Given the description of an element on the screen output the (x, y) to click on. 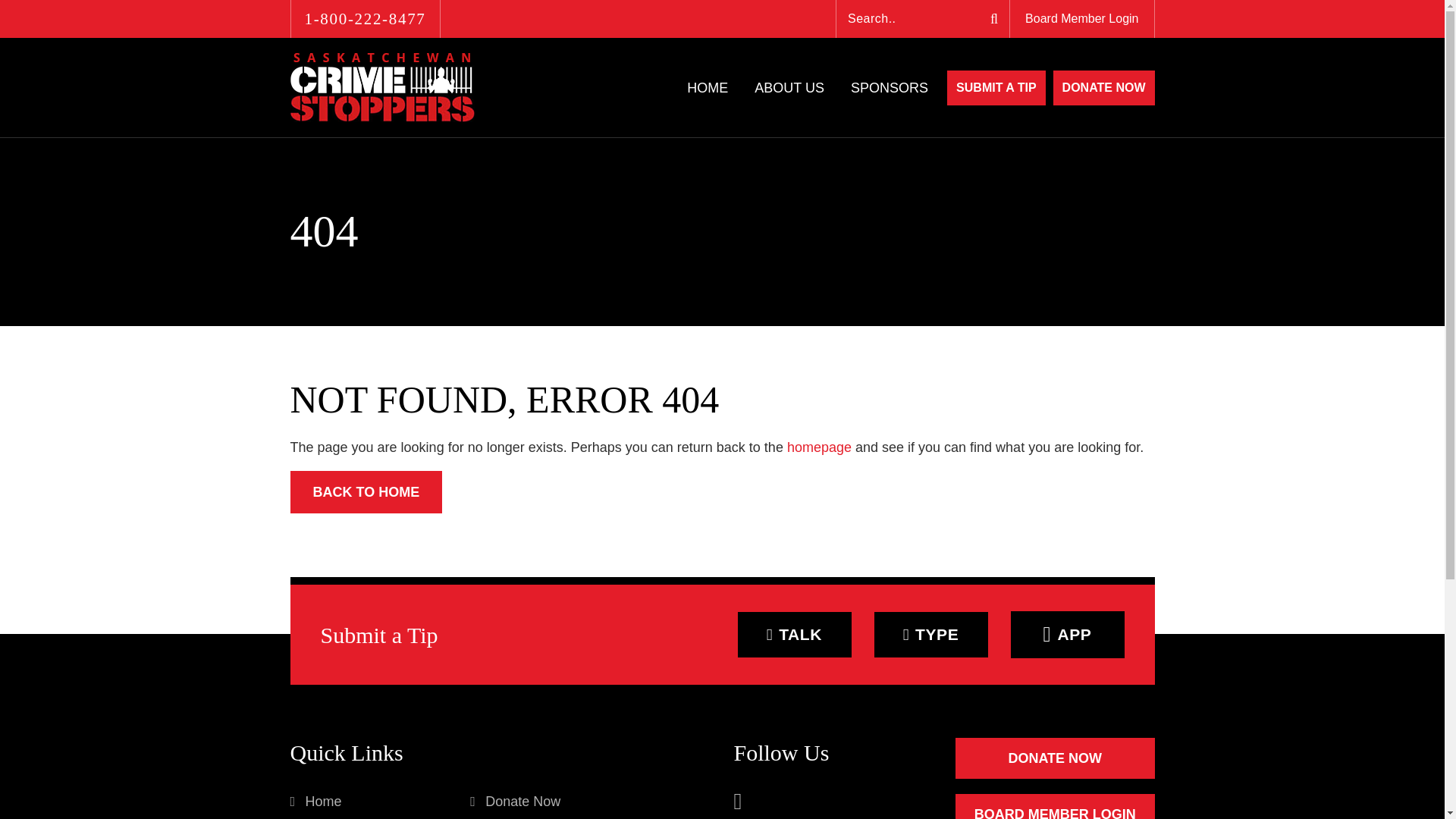
Saskatchewan Crimestoppers (381, 87)
homepage (819, 447)
TYPE (930, 634)
HOME (707, 87)
APP (1067, 634)
DONATE NOW (1054, 757)
Donate Now (515, 801)
ABOUT US (789, 87)
Home (314, 801)
SPONSORS (889, 87)
SUBMIT A TIP (996, 86)
Board Member Login (1081, 18)
BACK TO HOME (365, 491)
1-800-222-8477 (364, 18)
BOARD MEMBER LOGIN (1054, 806)
